Given the description of an element on the screen output the (x, y) to click on. 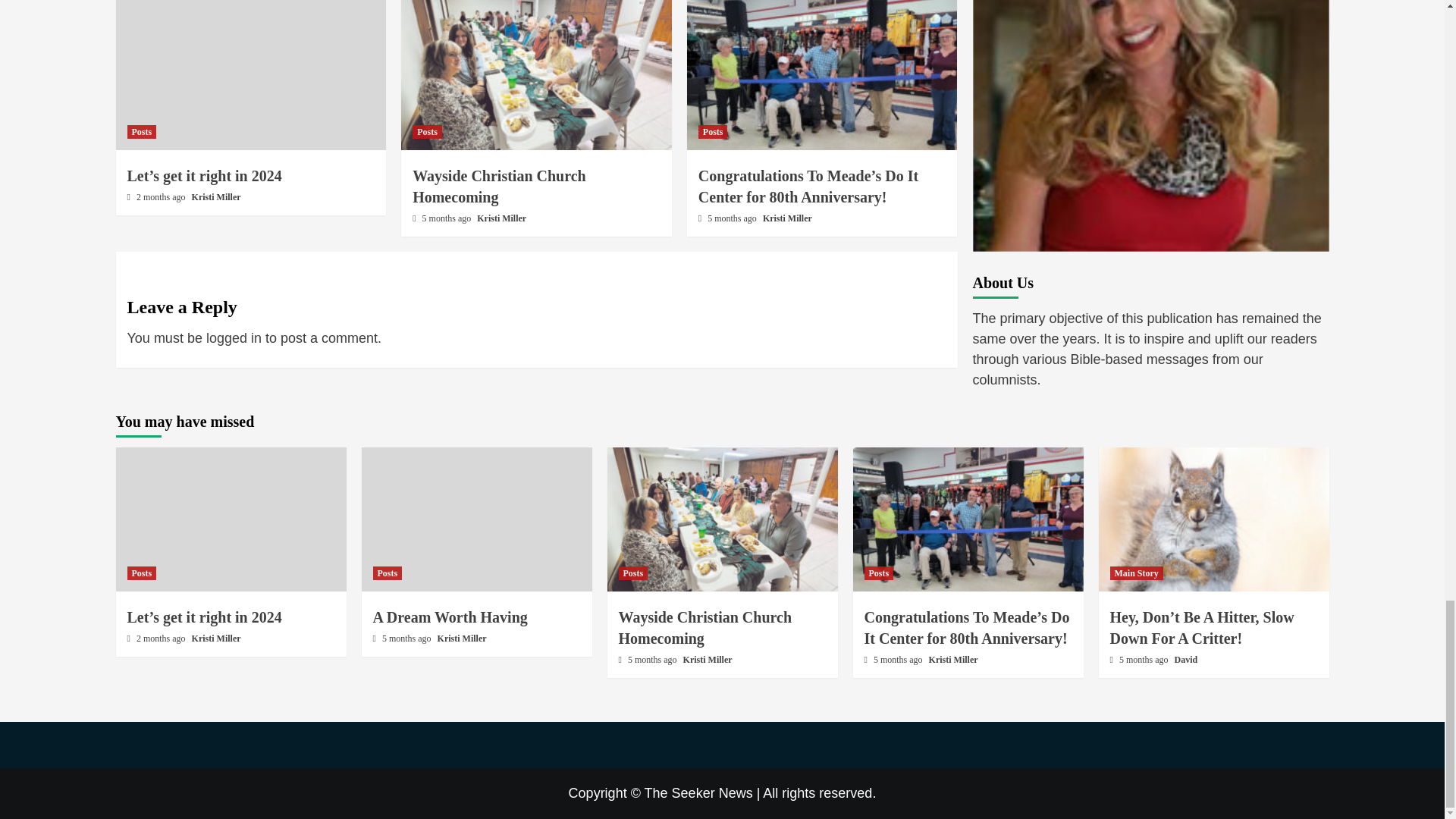
Posts (713, 131)
Kristi Miller (501, 217)
Posts (142, 131)
Wayside Christian Church Homecoming (499, 186)
2 months ago (161, 196)
5 months ago (732, 217)
5 months ago (448, 217)
Posts (427, 131)
logged in (234, 337)
Kristi Miller (216, 196)
Kristi Miller (787, 217)
